Given the description of an element on the screen output the (x, y) to click on. 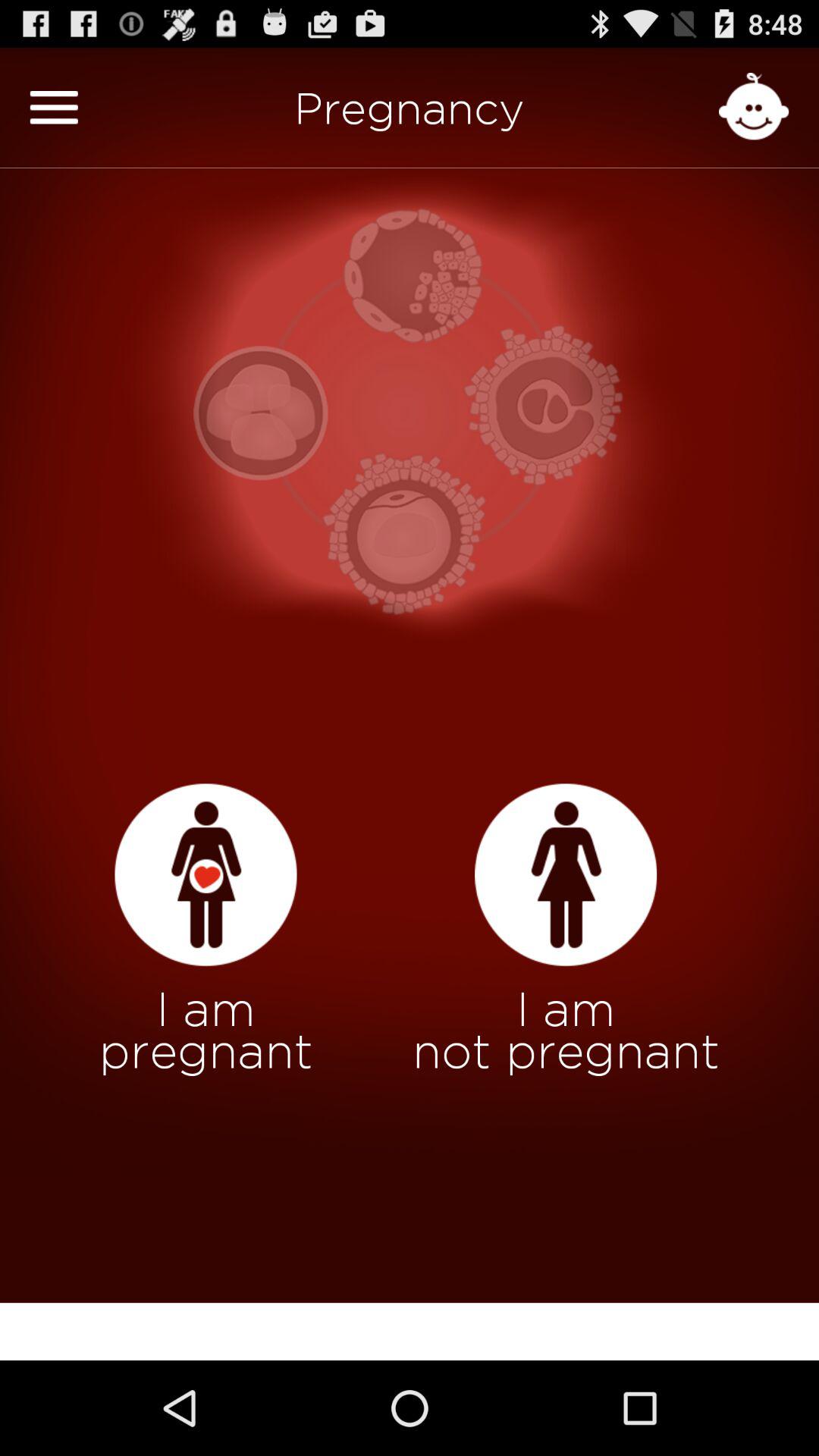
click i am pregnant option (205, 874)
